Given the description of an element on the screen output the (x, y) to click on. 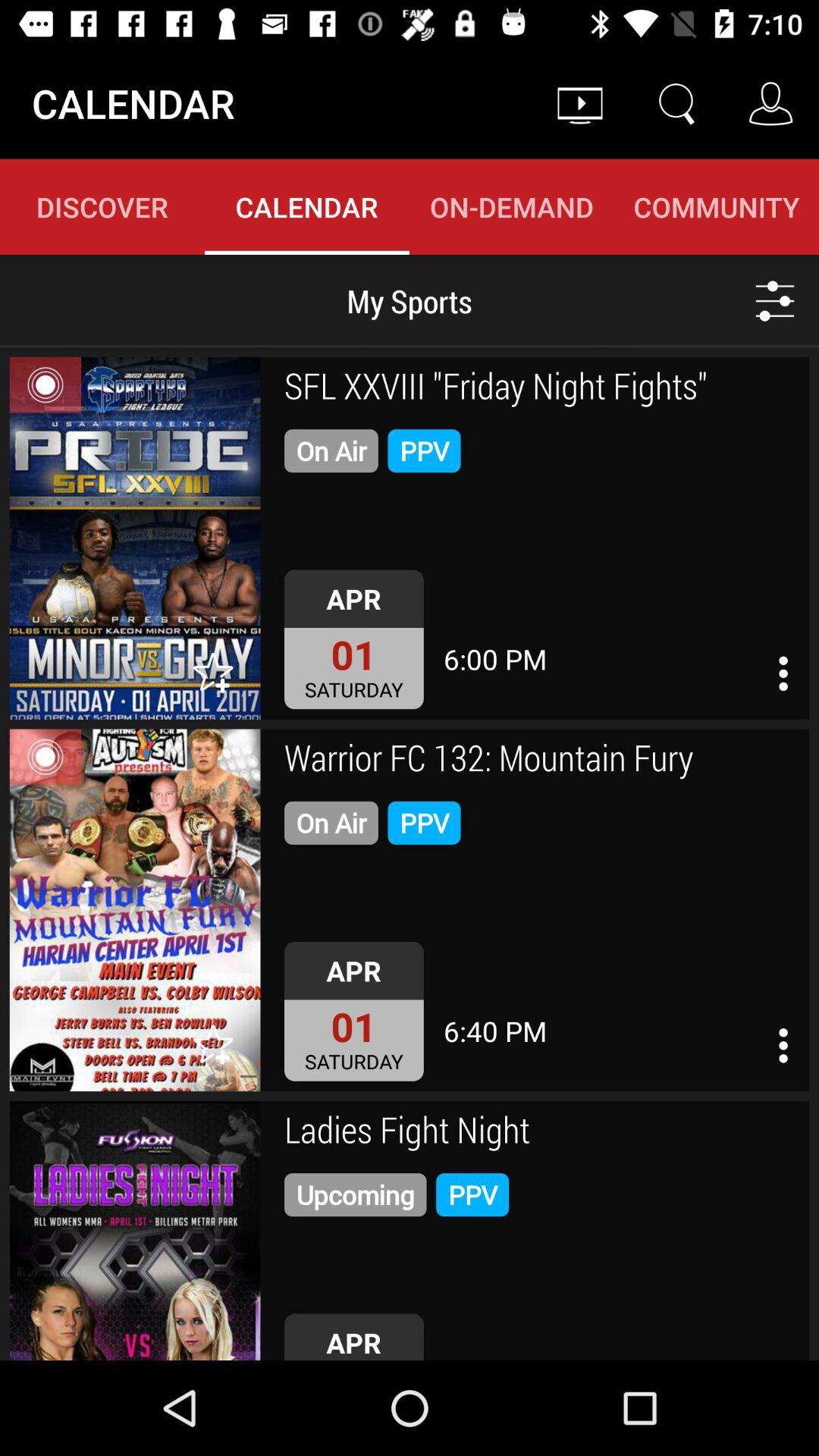
info (783, 1045)
